Given the description of an element on the screen output the (x, y) to click on. 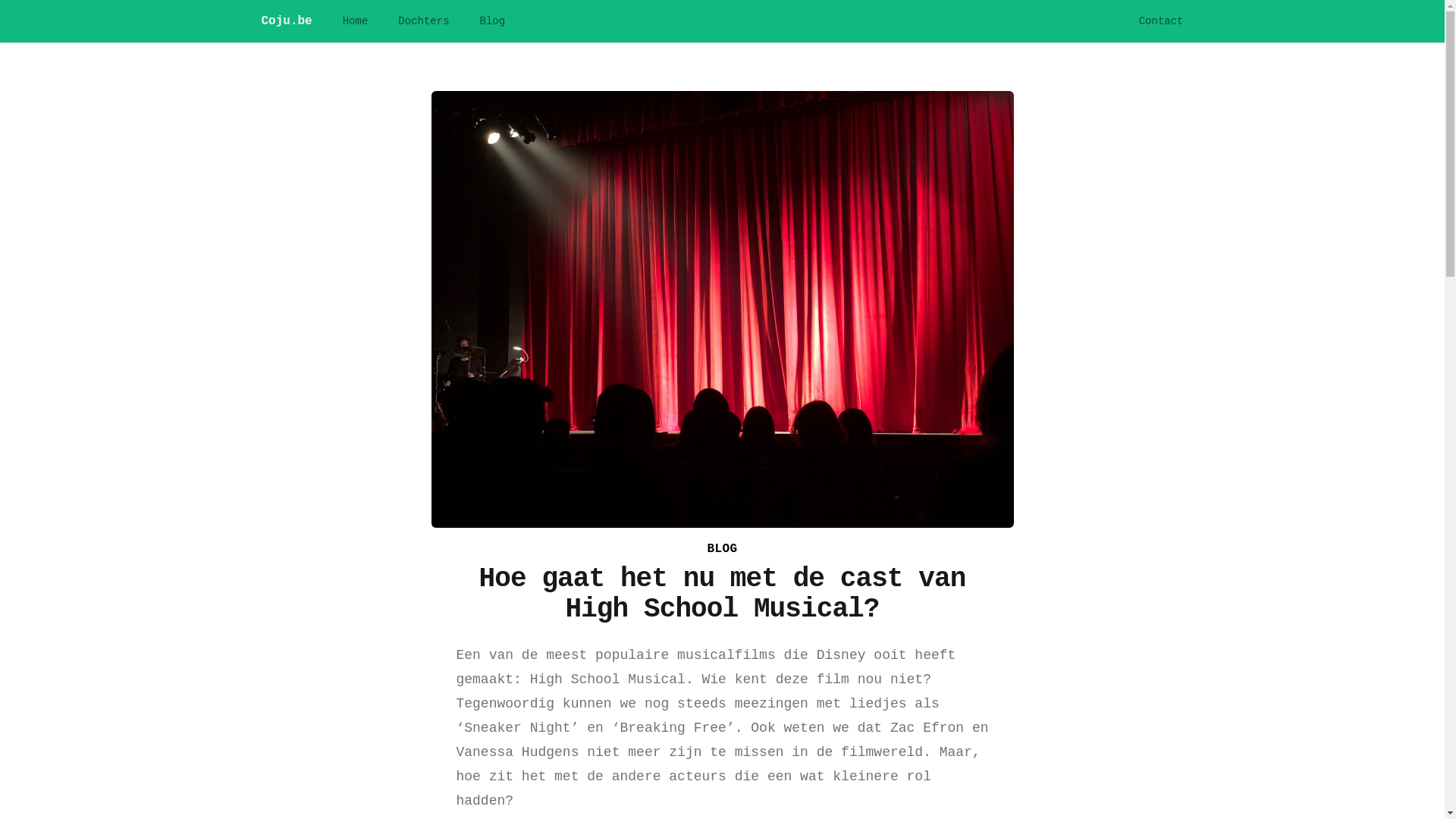
Home Element type: text (355, 20)
Dochters Element type: text (423, 20)
Contact Element type: text (1161, 20)
Coju.be Element type: text (285, 21)
Blog Element type: text (492, 20)
